Given the description of an element on the screen output the (x, y) to click on. 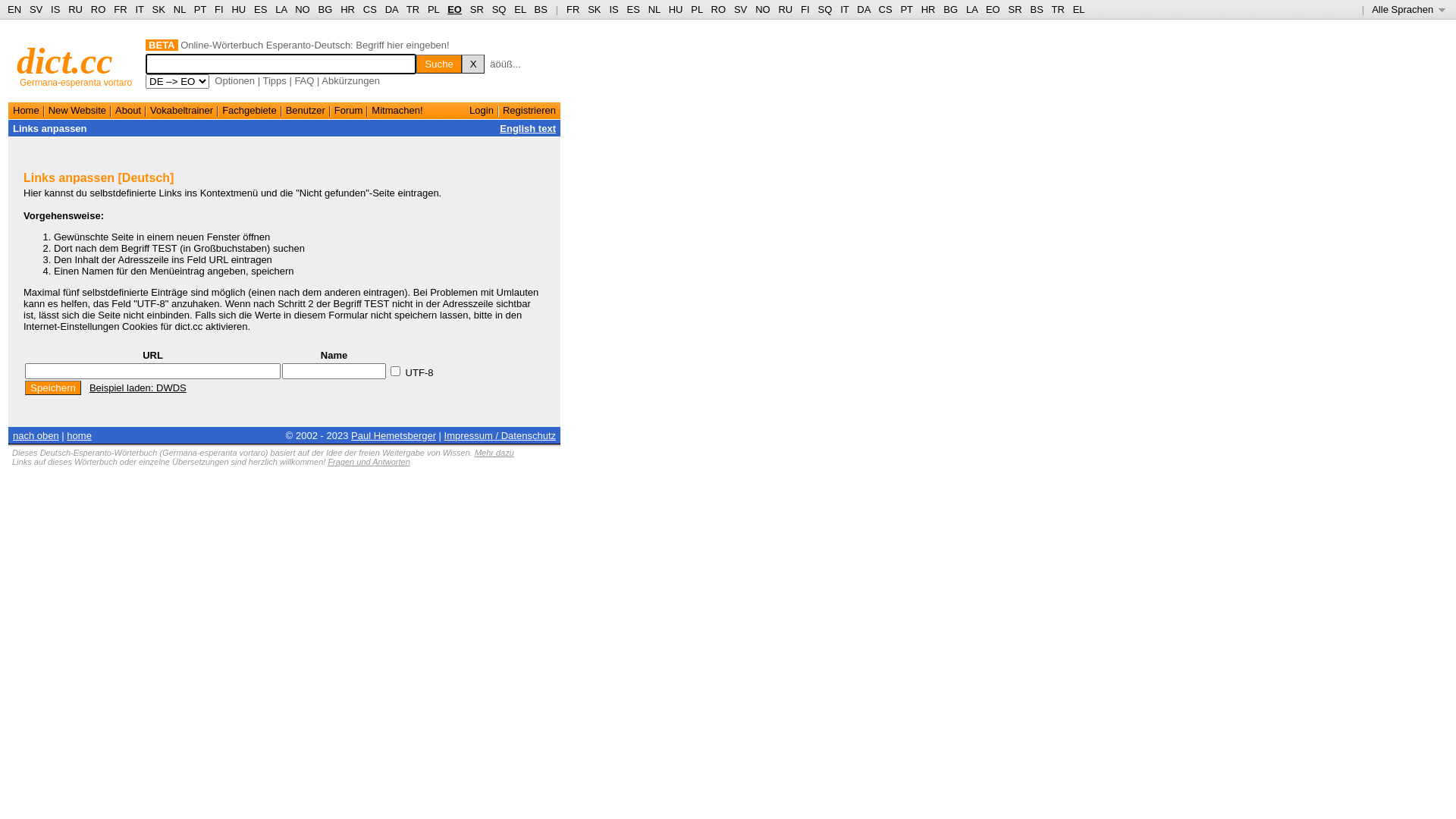
Beispiel laden: DWDS Element type: text (137, 387)
TR Element type: text (1057, 9)
SV Element type: text (35, 9)
Suche Element type: text (438, 63)
RU Element type: text (785, 9)
CS Element type: text (884, 9)
Speichern Element type: text (53, 387)
NL Element type: text (654, 9)
BS Element type: text (540, 9)
ES Element type: text (260, 9)
English text Element type: text (527, 128)
FI Element type: text (804, 9)
IT Element type: text (138, 9)
PL Element type: text (696, 9)
Forum Element type: text (348, 110)
SR Element type: text (1015, 9)
FAQ Element type: text (303, 80)
NO Element type: text (762, 9)
nach oben Element type: text (35, 434)
IS Element type: text (54, 9)
FR Element type: text (572, 9)
Mehr dazu Element type: text (494, 452)
ES Element type: text (633, 9)
SK Element type: text (158, 9)
X Element type: text (472, 63)
Vokabeltrainer Element type: text (181, 110)
Impressum / Datenschutz Element type: text (499, 434)
DA Element type: text (862, 9)
HR Element type: text (928, 9)
DA Element type: text (391, 9)
LA Element type: text (971, 9)
LA Element type: text (280, 9)
About Element type: text (128, 110)
NO Element type: text (302, 9)
Registrieren Element type: text (528, 110)
FR Element type: text (119, 9)
RU Element type: text (75, 9)
NL Element type: text (179, 9)
Optionen Element type: text (234, 80)
TR Element type: text (412, 9)
SK Element type: text (593, 9)
EL Element type: text (1079, 9)
Fachgebiete Element type: text (249, 110)
IT Element type: text (844, 9)
BS Element type: text (1035, 9)
IS Element type: text (613, 9)
PT Element type: text (906, 9)
SQ Element type: text (824, 9)
RO Element type: text (98, 9)
SR Element type: text (476, 9)
Login Element type: text (481, 110)
SV Element type: text (740, 9)
home Element type: text (78, 434)
Paul Hemetsberger Element type: text (393, 434)
SQ Element type: text (499, 9)
Tipps Element type: text (273, 80)
HR Element type: text (347, 9)
FI Element type: text (218, 9)
EO Element type: text (454, 9)
Alle Sprachen  Element type: text (1408, 9)
Fragen und Antworten Element type: text (368, 461)
EN Element type: text (14, 9)
RO Element type: text (718, 9)
dict.cc Element type: text (64, 60)
PT Element type: text (200, 9)
Benutzer Element type: text (305, 110)
New Website Element type: text (77, 110)
EO Element type: text (992, 9)
BG Element type: text (325, 9)
Mitmachen! Element type: text (396, 110)
HU Element type: text (675, 9)
HU Element type: text (238, 9)
CS Element type: text (369, 9)
EL Element type: text (519, 9)
PL Element type: text (433, 9)
BG Element type: text (950, 9)
Home Element type: text (25, 110)
